Given the description of an element on the screen output the (x, y) to click on. 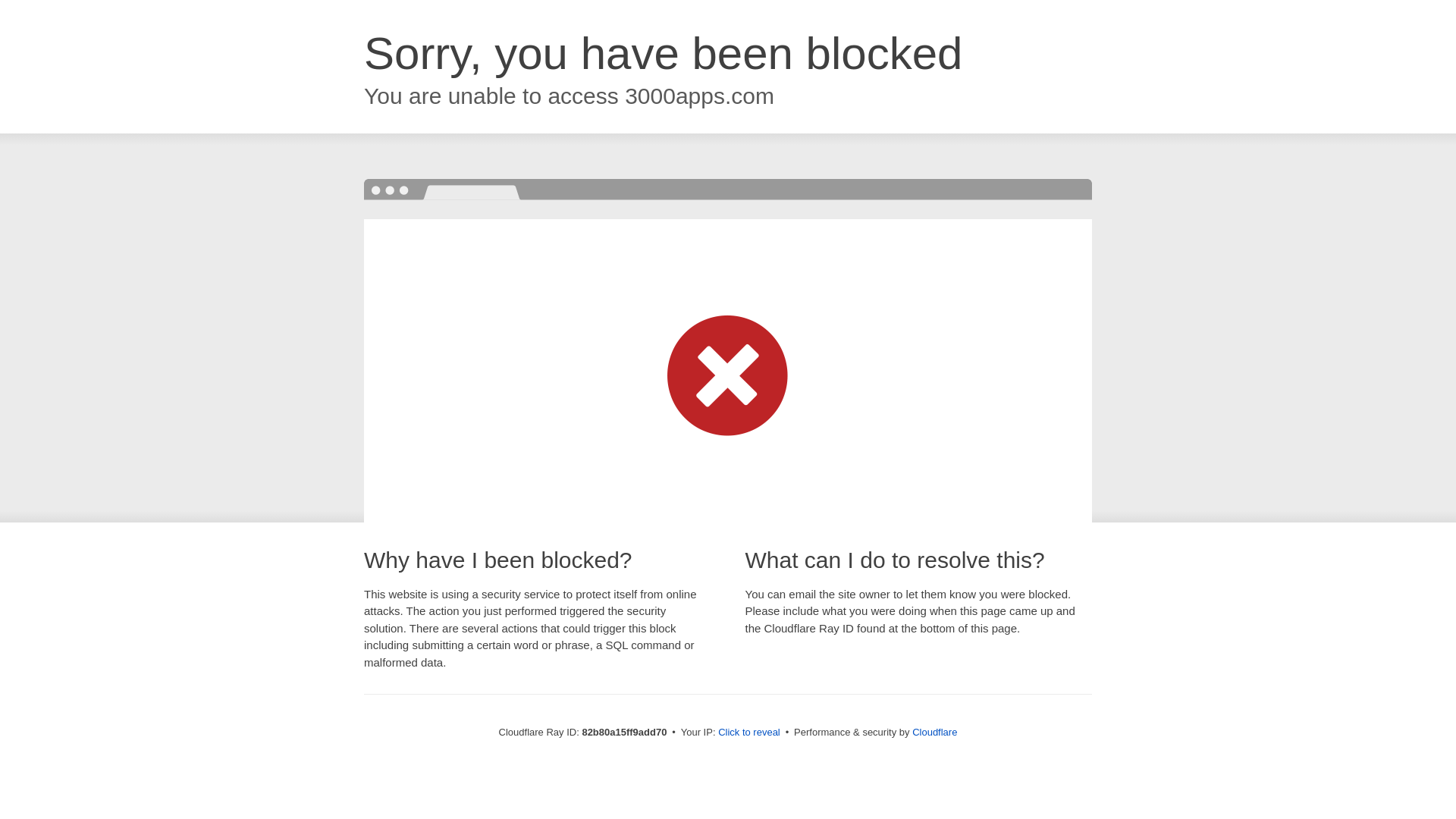
Cloudflare Element type: text (934, 731)
Click to reveal Element type: text (749, 732)
